Given the description of an element on the screen output the (x, y) to click on. 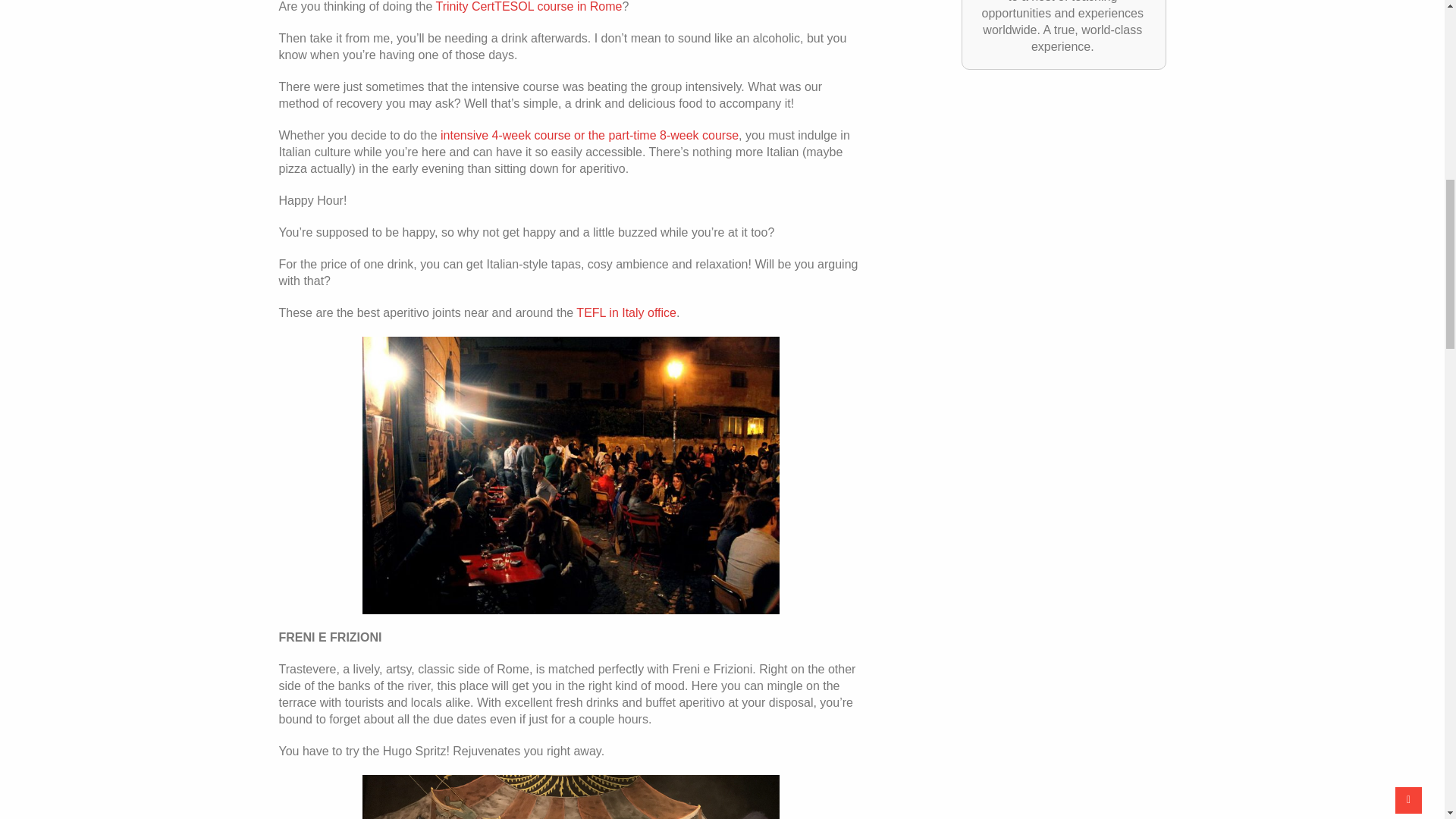
Trinity CertTESOL course in Rome (528, 6)
intensive 4-week course or the part-time 8-week course (588, 134)
TEFL in Italy office (626, 312)
